Given the description of an element on the screen output the (x, y) to click on. 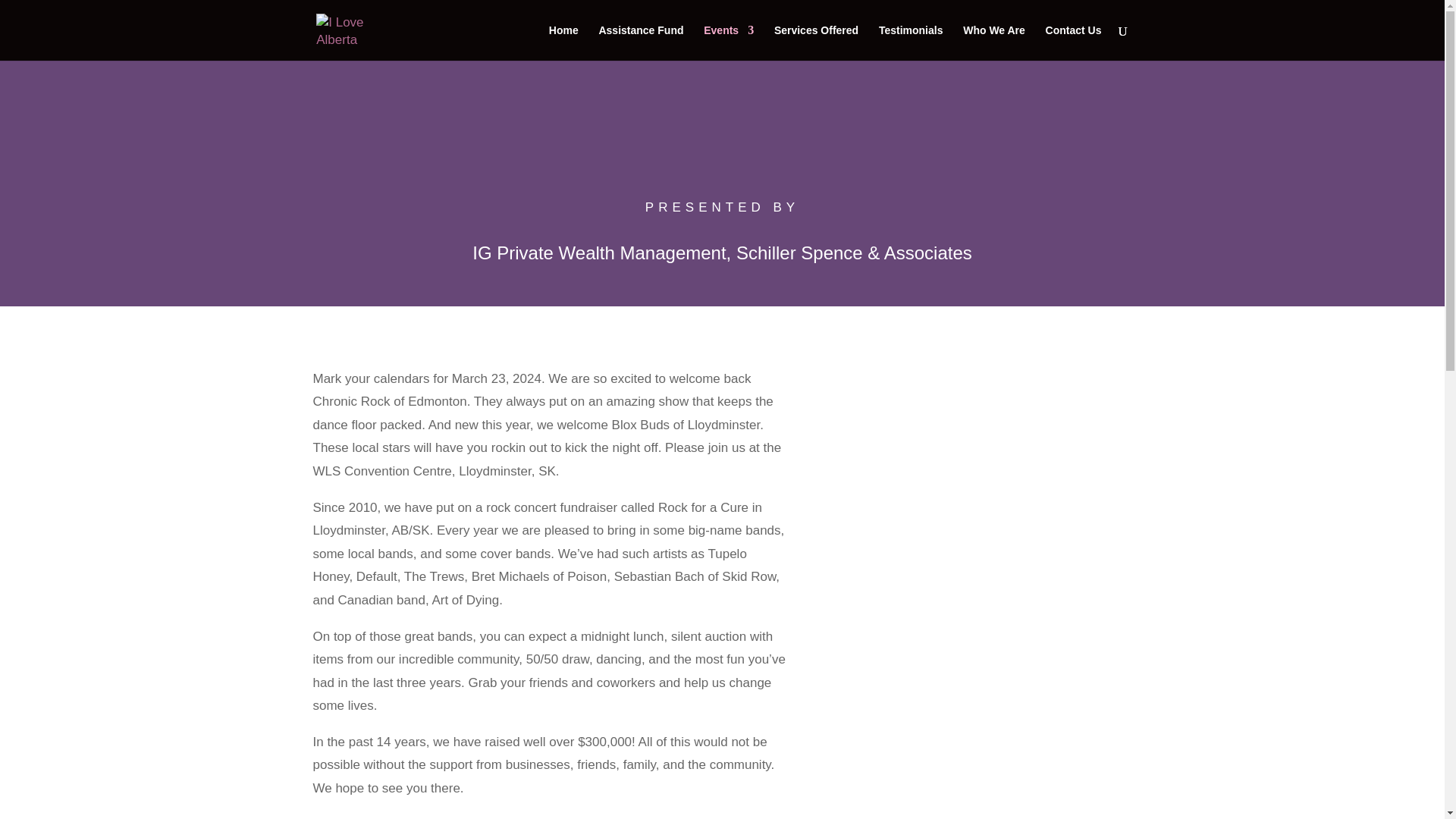
Contact Us (1073, 42)
Testimonials (911, 42)
Who We Are (993, 42)
Events (728, 42)
Assistance Fund (640, 42)
Services Offered (816, 42)
